Given the description of an element on the screen output the (x, y) to click on. 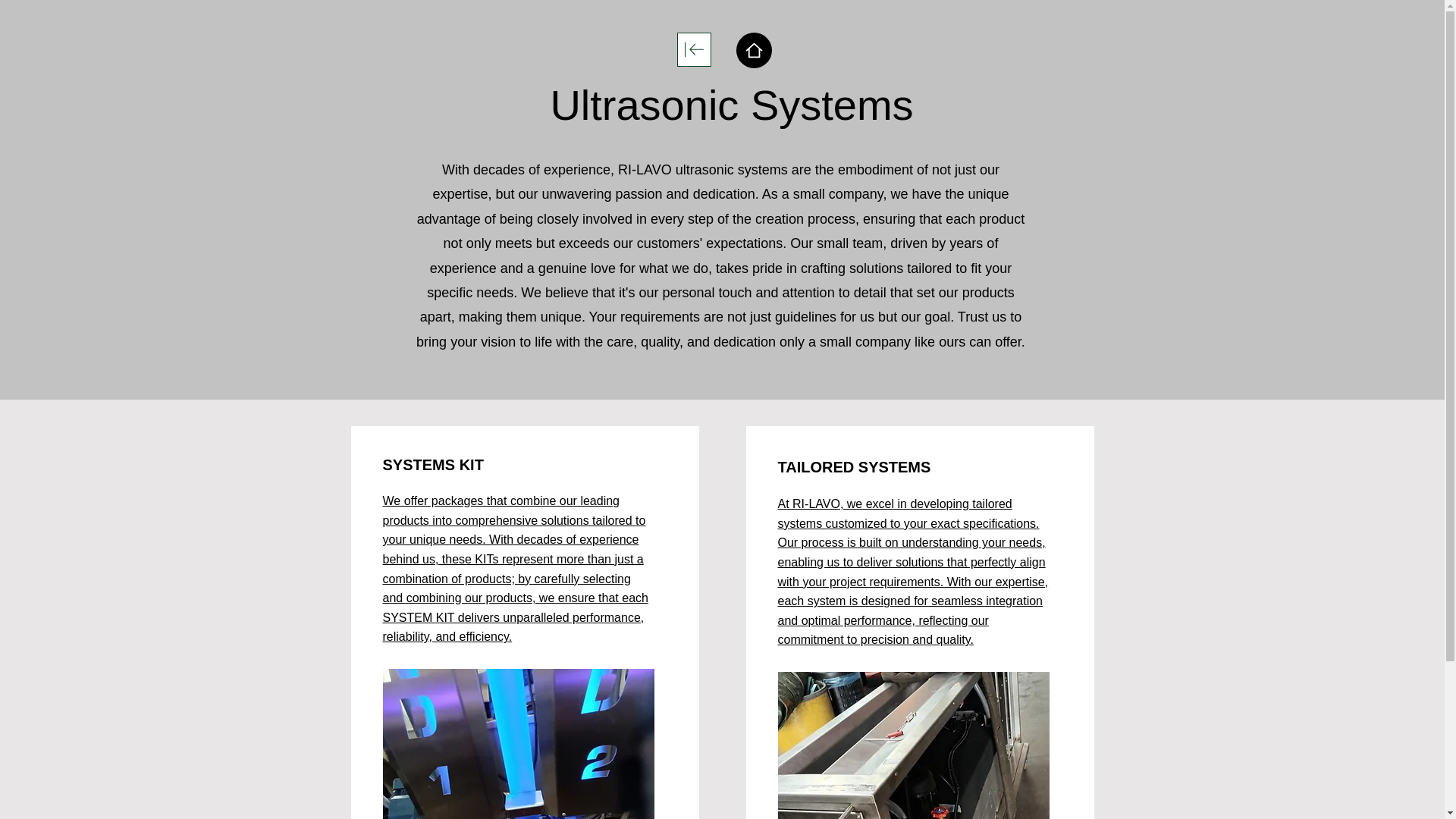
Ultrasonic Systems (731, 104)
TAILORED SYSTEMS (854, 466)
SYSTEMS KIT (432, 464)
